Given the description of an element on the screen output the (x, y) to click on. 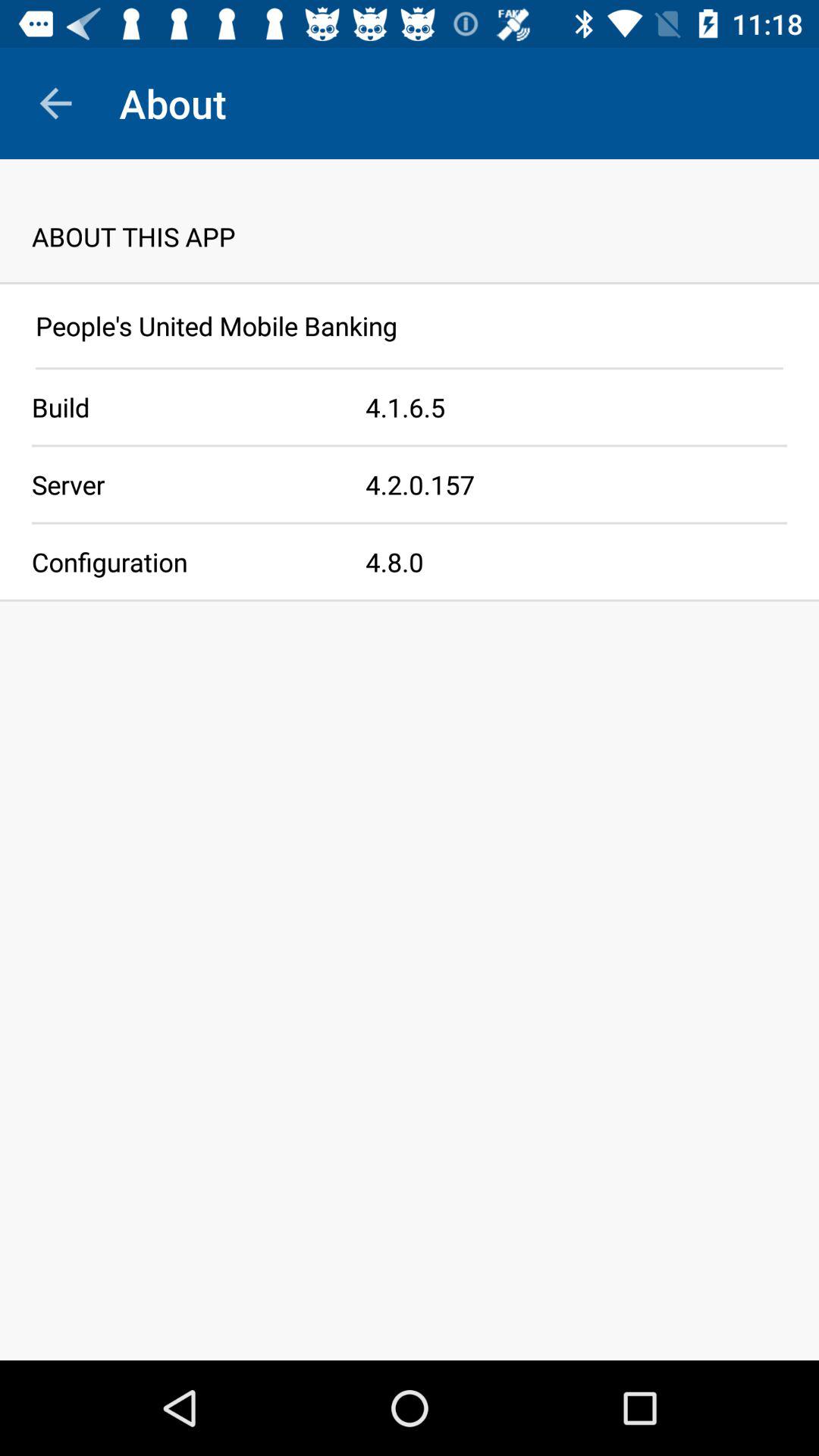
open item on the left (182, 561)
